Given the description of an element on the screen output the (x, y) to click on. 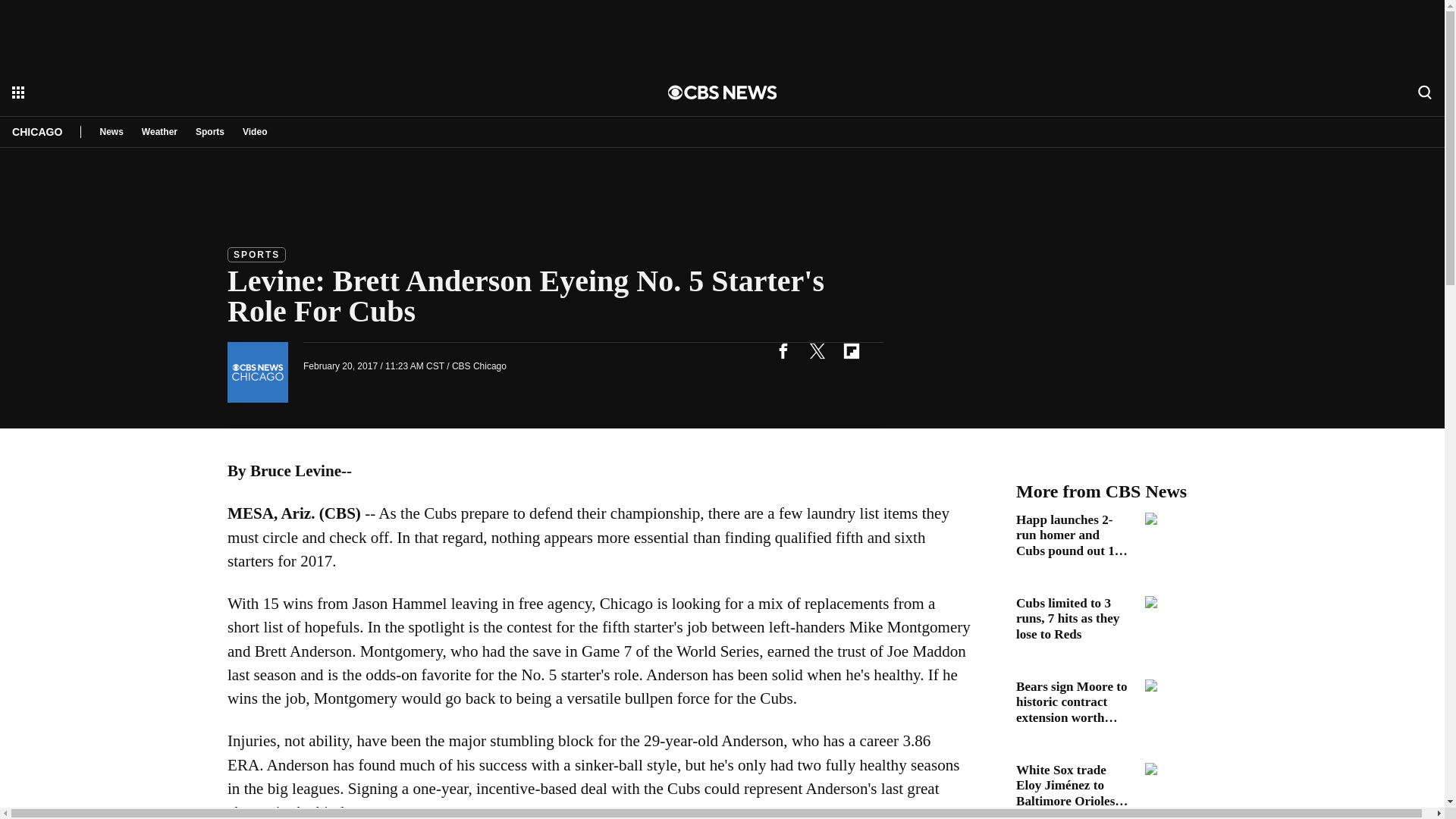
flipboard (850, 350)
facebook (782, 350)
twitter (816, 350)
